Given the description of an element on the screen output the (x, y) to click on. 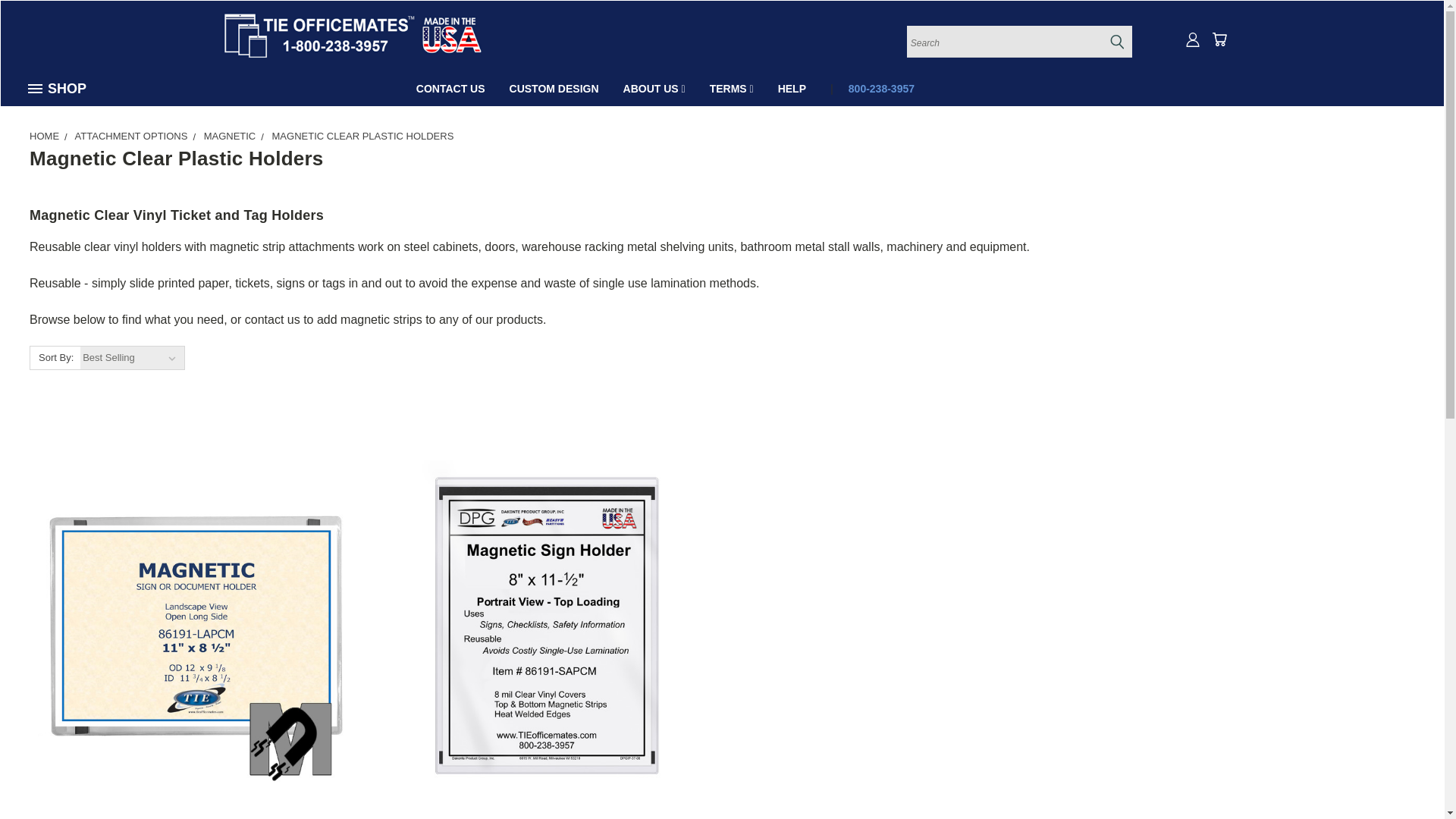
Magnetic Clear Vinyl Sign or Document Holder (196, 627)
submit (1116, 41)
DAKONTE PRODUCT GROUP, INC (351, 35)
SHOP (63, 89)
